Given the description of an element on the screen output the (x, y) to click on. 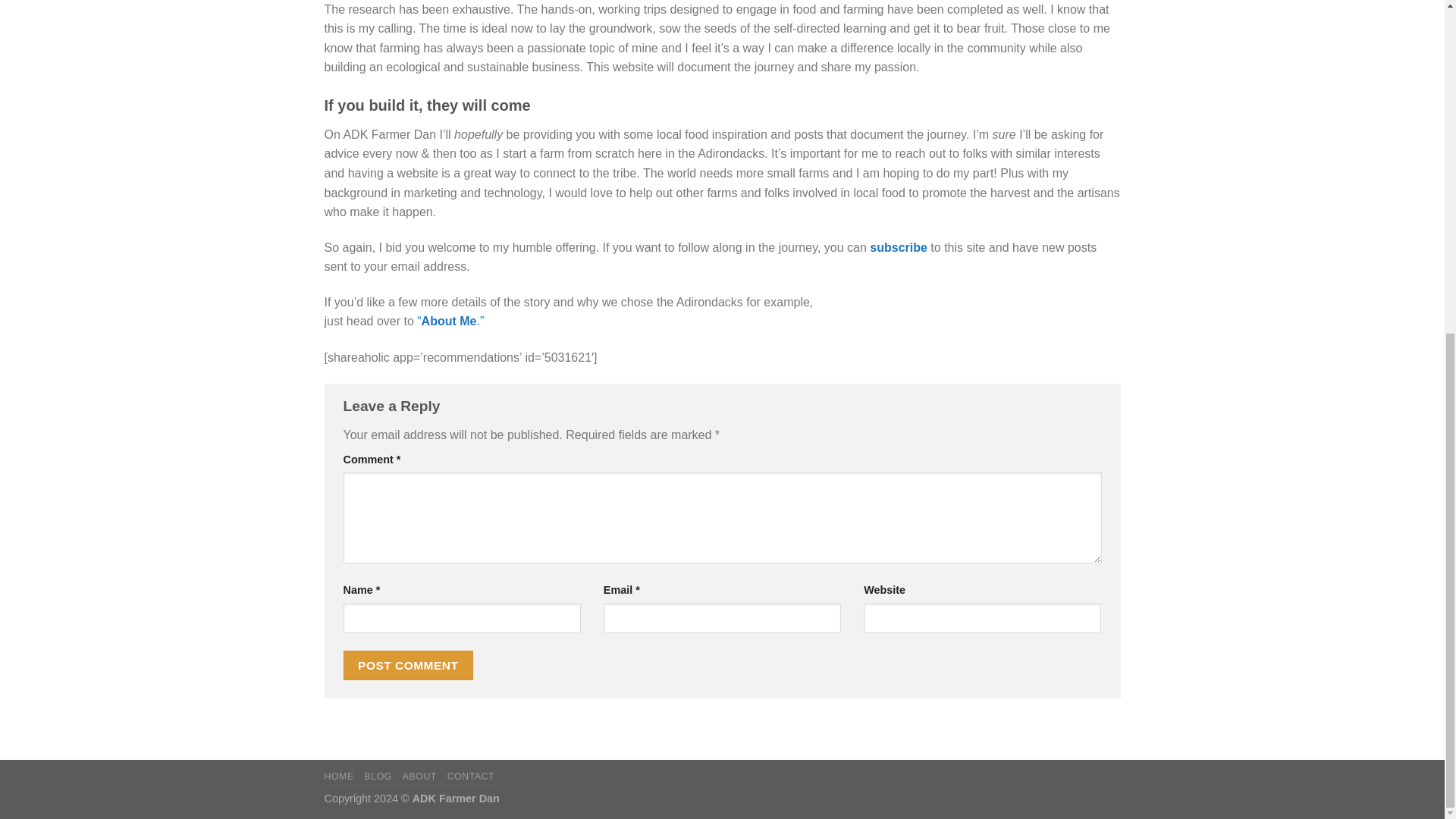
CONTACT (470, 776)
BLOG (377, 776)
subscribe (898, 246)
ABOUT (419, 776)
HOME (338, 776)
Sign up (898, 246)
About ADK Farmer Dan (449, 320)
Post Comment (407, 665)
Post Comment (407, 665)
